Given the description of an element on the screen output the (x, y) to click on. 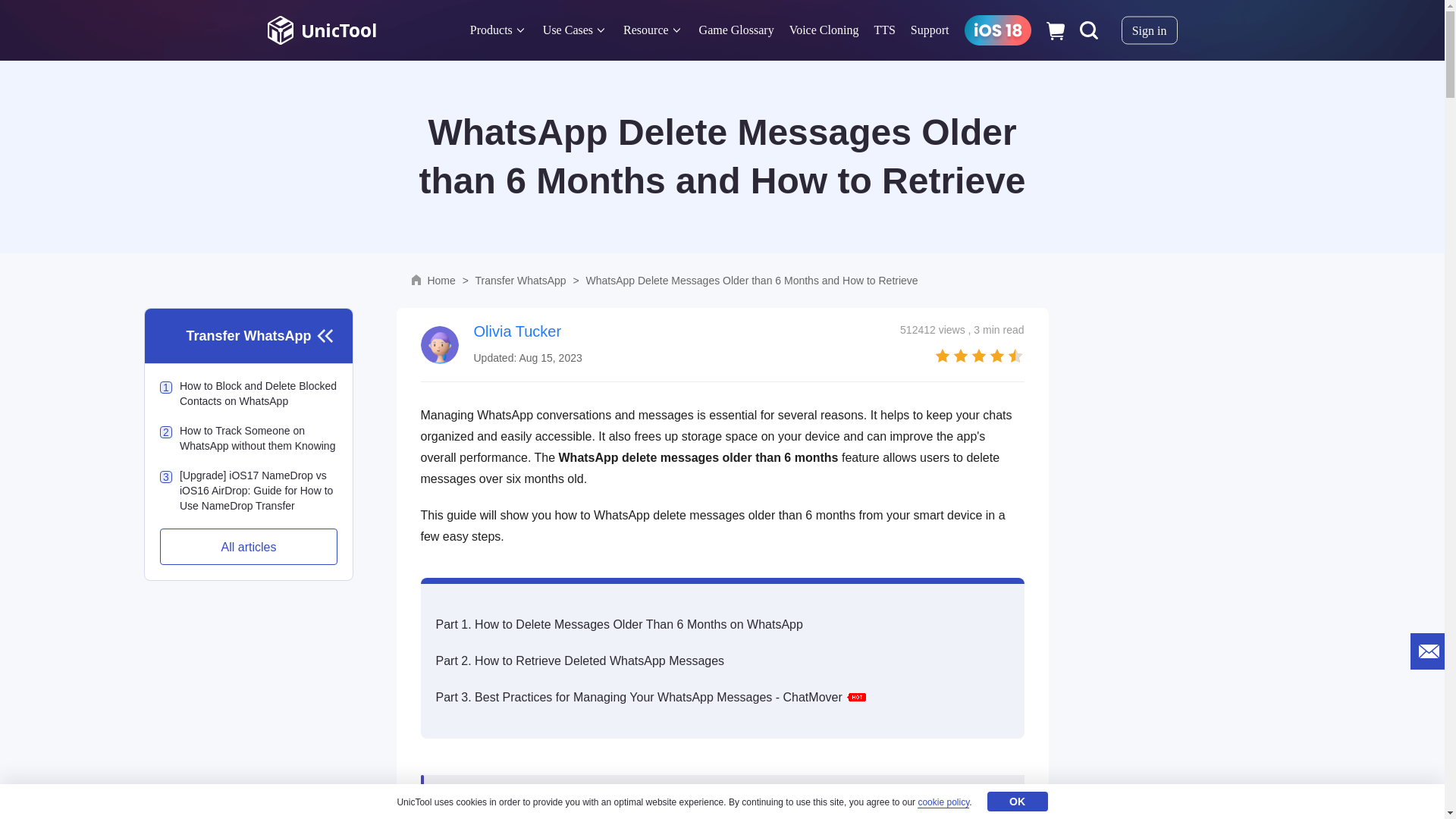
Use Cases (567, 29)
Resource (645, 29)
Voice Cloning (824, 29)
Support (930, 29)
cookie policy (943, 802)
TTS (884, 29)
Game Glossary (736, 29)
Products (491, 29)
